Given the description of an element on the screen output the (x, y) to click on. 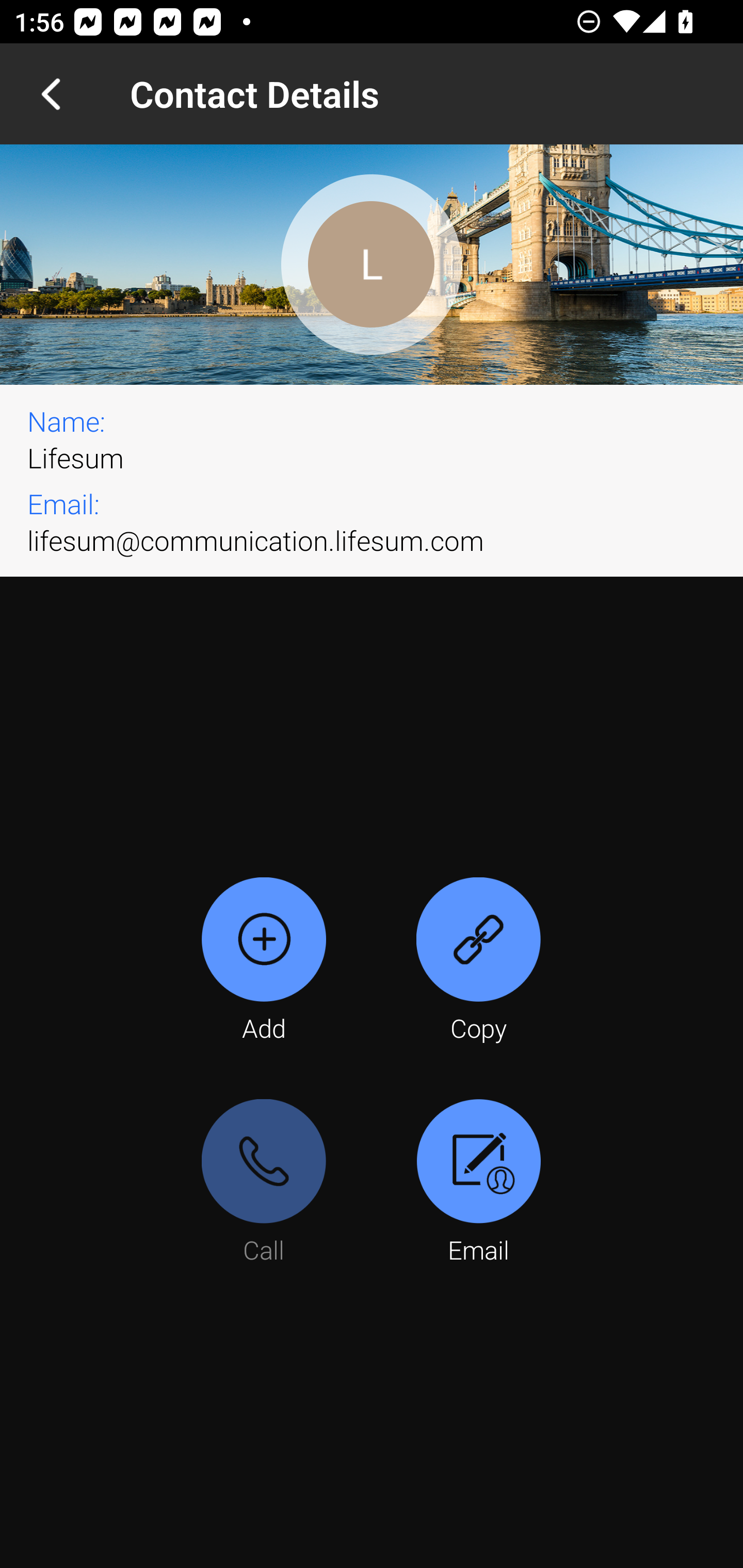
Navigate up (50, 93)
Add (264, 961)
Copy (478, 961)
Call (264, 1182)
Email (478, 1182)
